Given the description of an element on the screen output the (x, y) to click on. 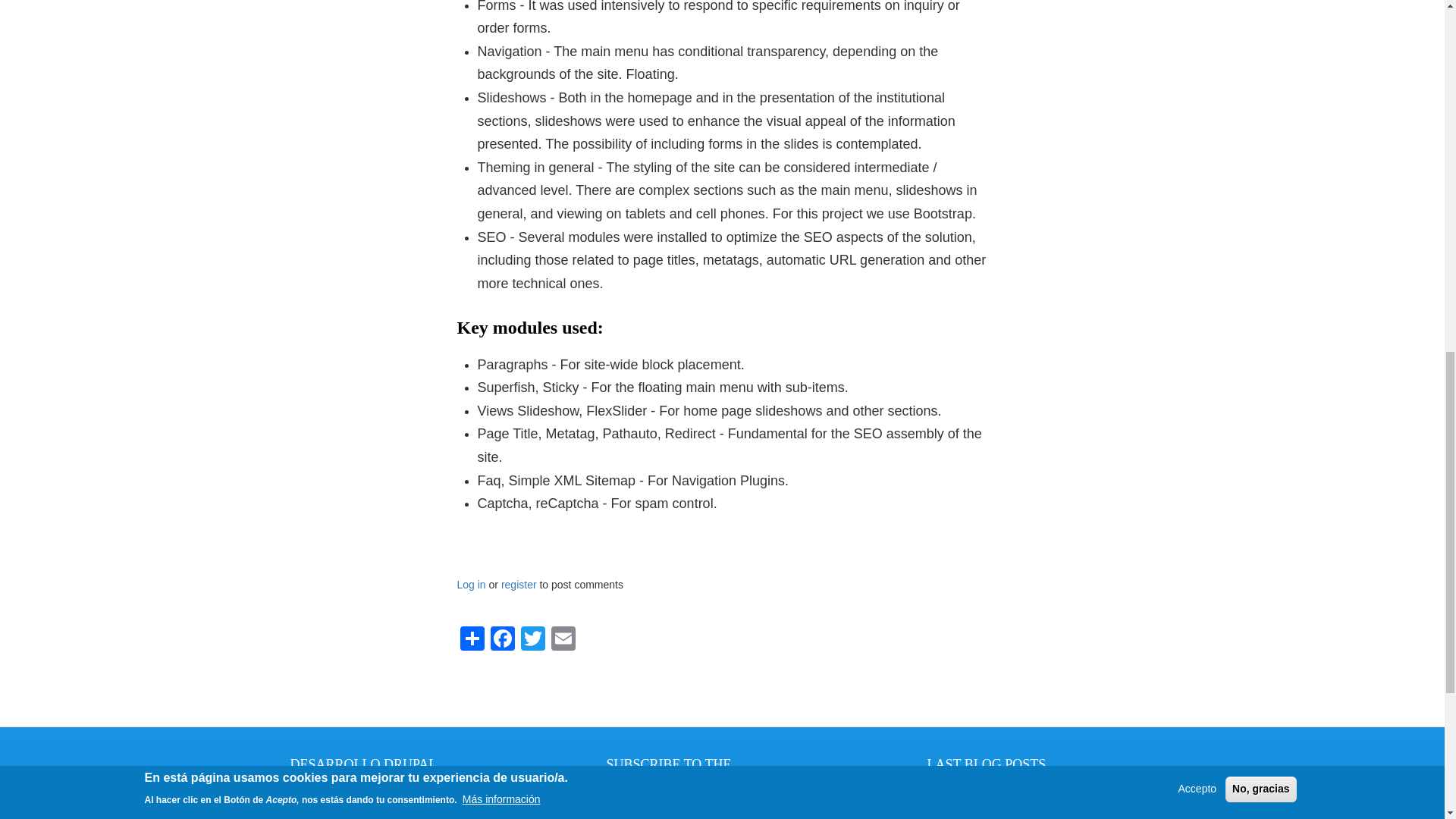
CONSULTING (362, 800)
Log in (470, 584)
WEB DESIGN (362, 816)
Case study: Aves Argentinas (993, 796)
Twitter (531, 637)
Email (562, 637)
Share (471, 637)
register (518, 584)
Facebook (501, 637)
